Given the description of an element on the screen output the (x, y) to click on. 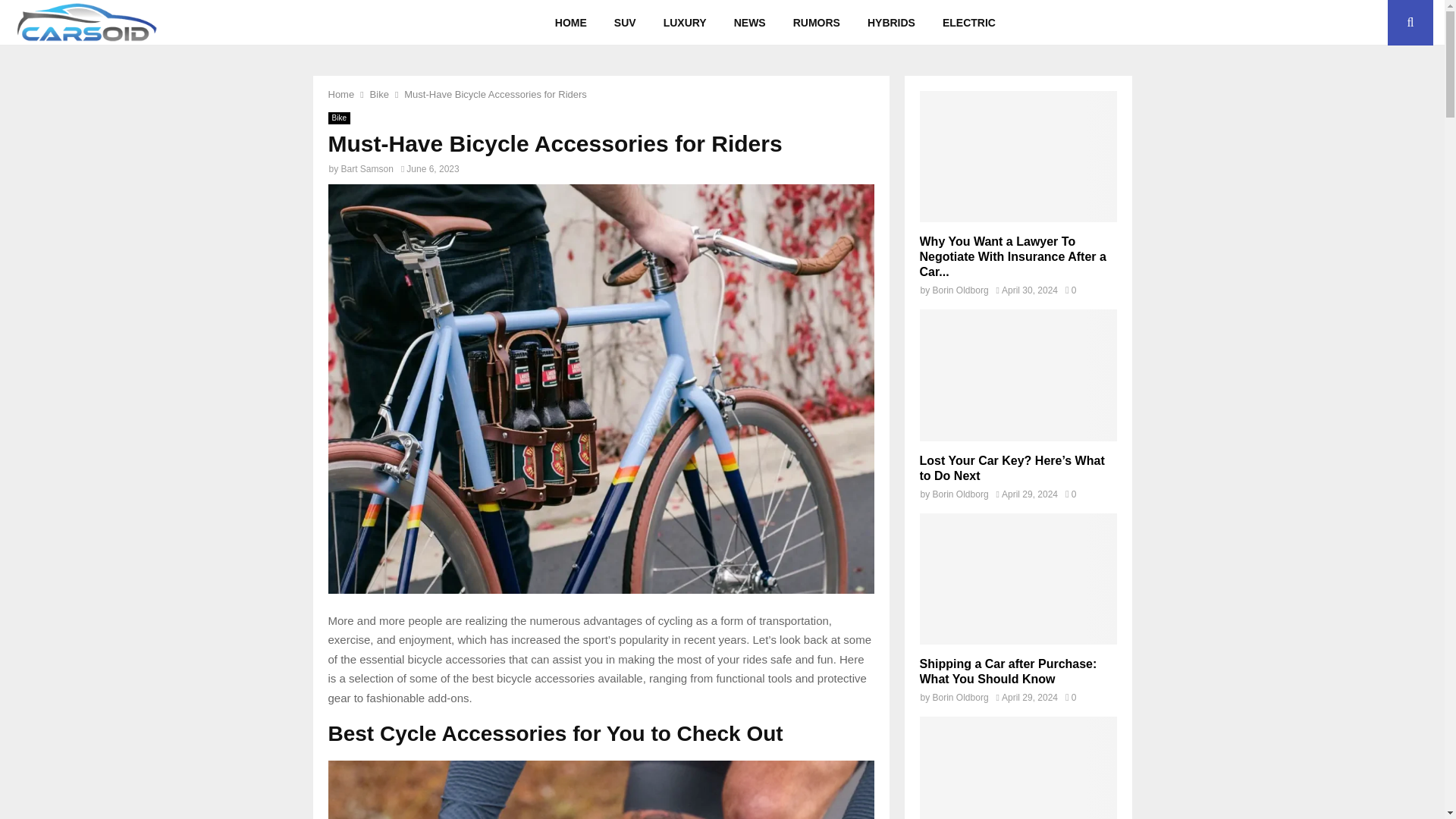
Shipping a Car after Purchase: What You Should Know (1017, 578)
SUV (624, 22)
 Shipping a Car after Purchase: What You Should Know  (1007, 671)
HOME (570, 22)
Home (340, 93)
Bike (378, 93)
ELECTRIC (968, 22)
Bike (338, 118)
HYBRIDS (890, 22)
Must-Have Bicycle Accessories for Riders (495, 93)
RUMORS (815, 22)
LUXURY (684, 22)
